Given the description of an element on the screen output the (x, y) to click on. 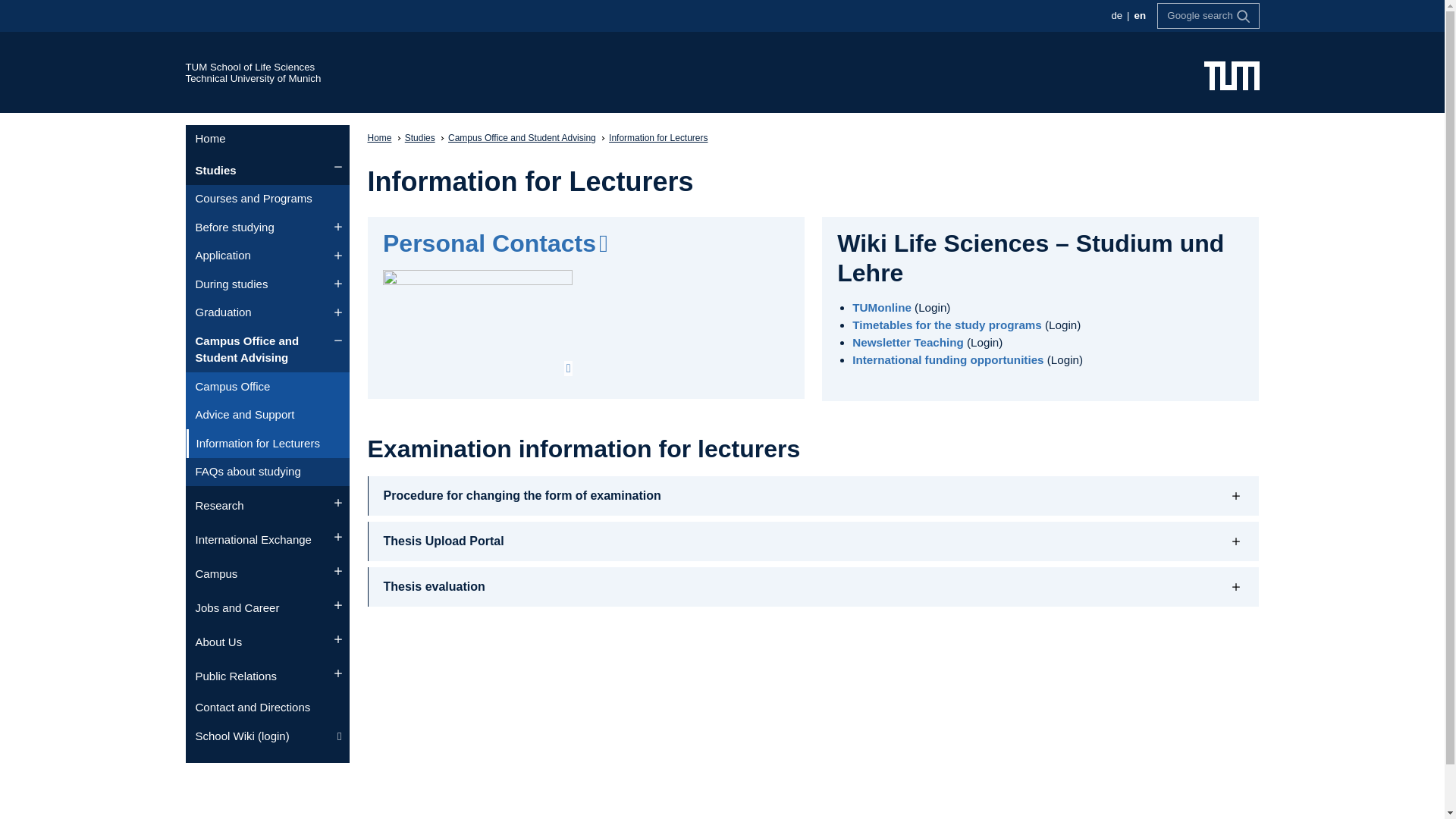
Studies (266, 170)
Before studying (266, 226)
Before studying (266, 226)
Deutsch (1116, 15)
Courses and Programs (266, 199)
Campus Office (266, 386)
Graduation (266, 312)
Home (266, 139)
Studies (266, 170)
Home www.tum.de (1231, 74)
